Given the description of an element on the screen output the (x, y) to click on. 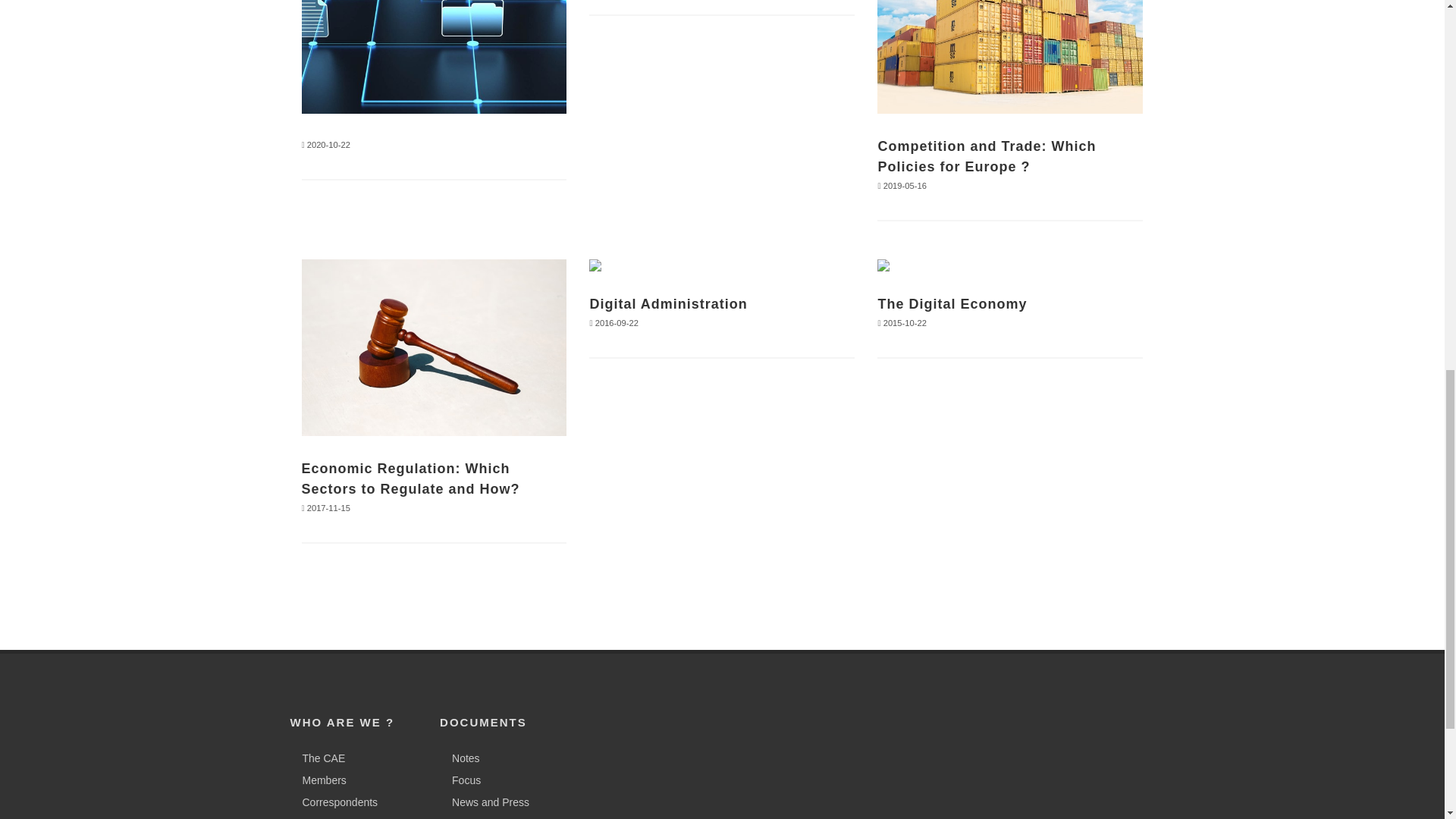
Competition and Trade: Which Policies for Europe ? (986, 156)
Members (319, 780)
Notes (461, 758)
The CAE (319, 758)
The Digital Economy (951, 304)
Team (311, 817)
Economic Regulation: Which Sectors to Regulate and How? (410, 478)
Correspondents (336, 802)
Digital Administration (667, 304)
